Given the description of an element on the screen output the (x, y) to click on. 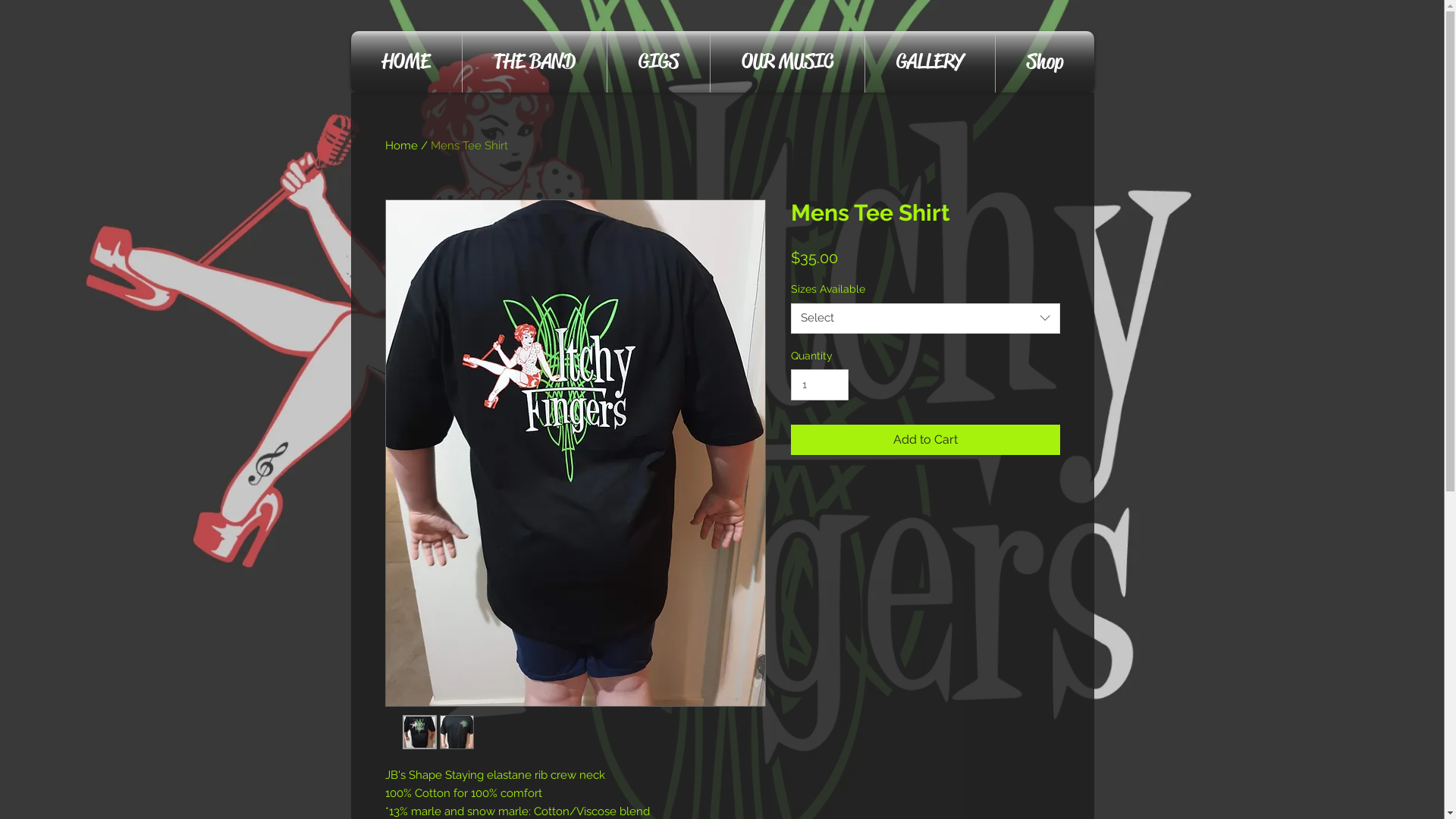
Shop Element type: text (1043, 61)
GIGS Element type: text (657, 61)
OUR MUSIC Element type: text (786, 61)
Mens Tee Shirt Element type: text (469, 145)
HOME Element type: text (405, 61)
THE BAND Element type: text (534, 61)
GALLERY Element type: text (929, 61)
Home Element type: text (401, 145)
Select Element type: text (924, 318)
Add to Cart Element type: text (924, 439)
